Given the description of an element on the screen output the (x, y) to click on. 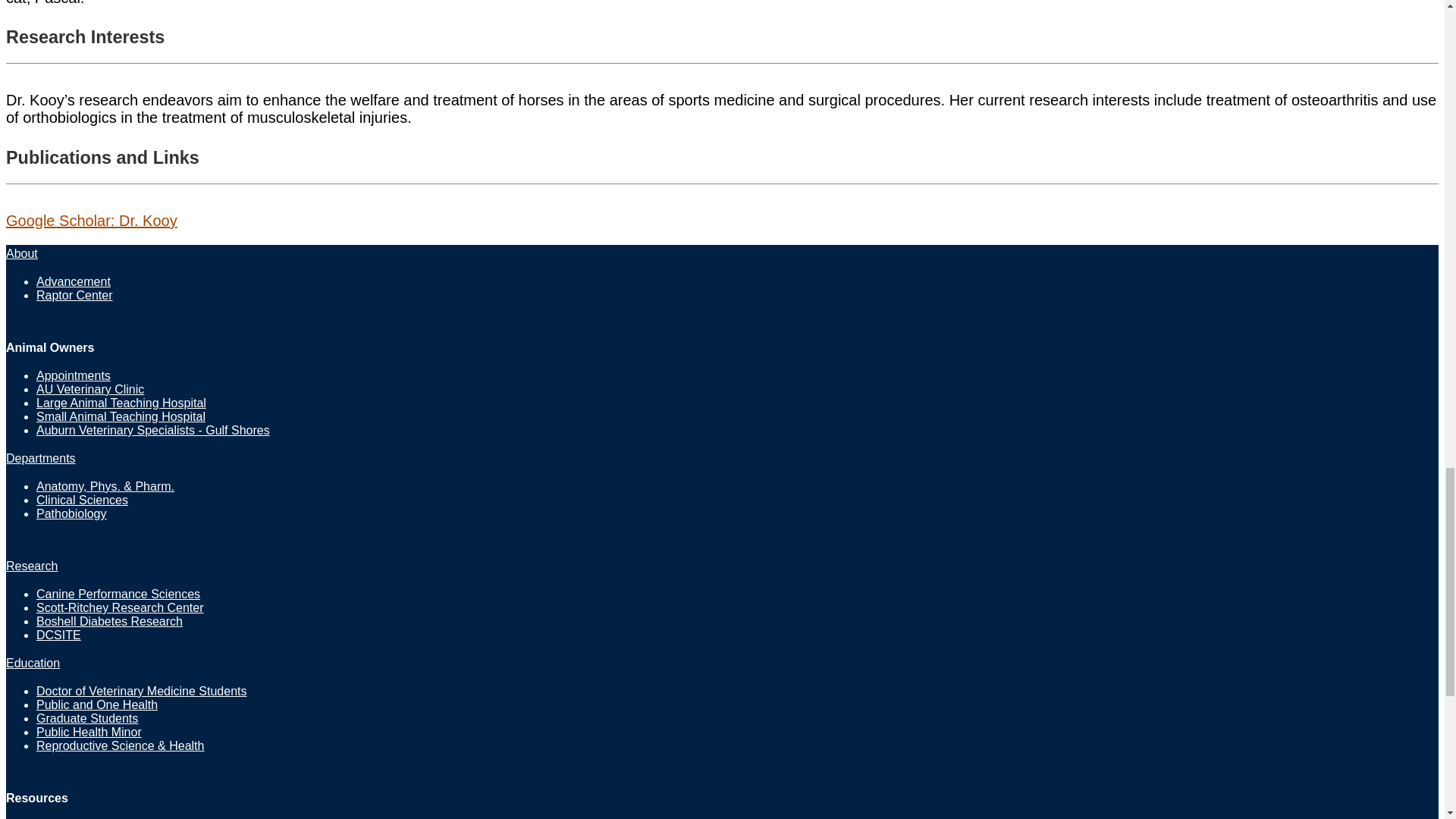
Small Animal Teaching Hospital (120, 416)
Advancement (73, 281)
Doctor of Veterinary Medicine Students (141, 690)
Clinical Sciences (82, 499)
Research (31, 565)
Boshell Diabetes Research (109, 621)
Education (32, 662)
Scott-Ritchey Research Center (119, 607)
About (21, 253)
Raptor Center (74, 295)
Departments (40, 458)
Large Animal Teaching Hospital (121, 402)
Auburn Veterinary Specialists - Gulf Shores (152, 430)
Pathobiology (71, 513)
Appointments (73, 375)
